Given the description of an element on the screen output the (x, y) to click on. 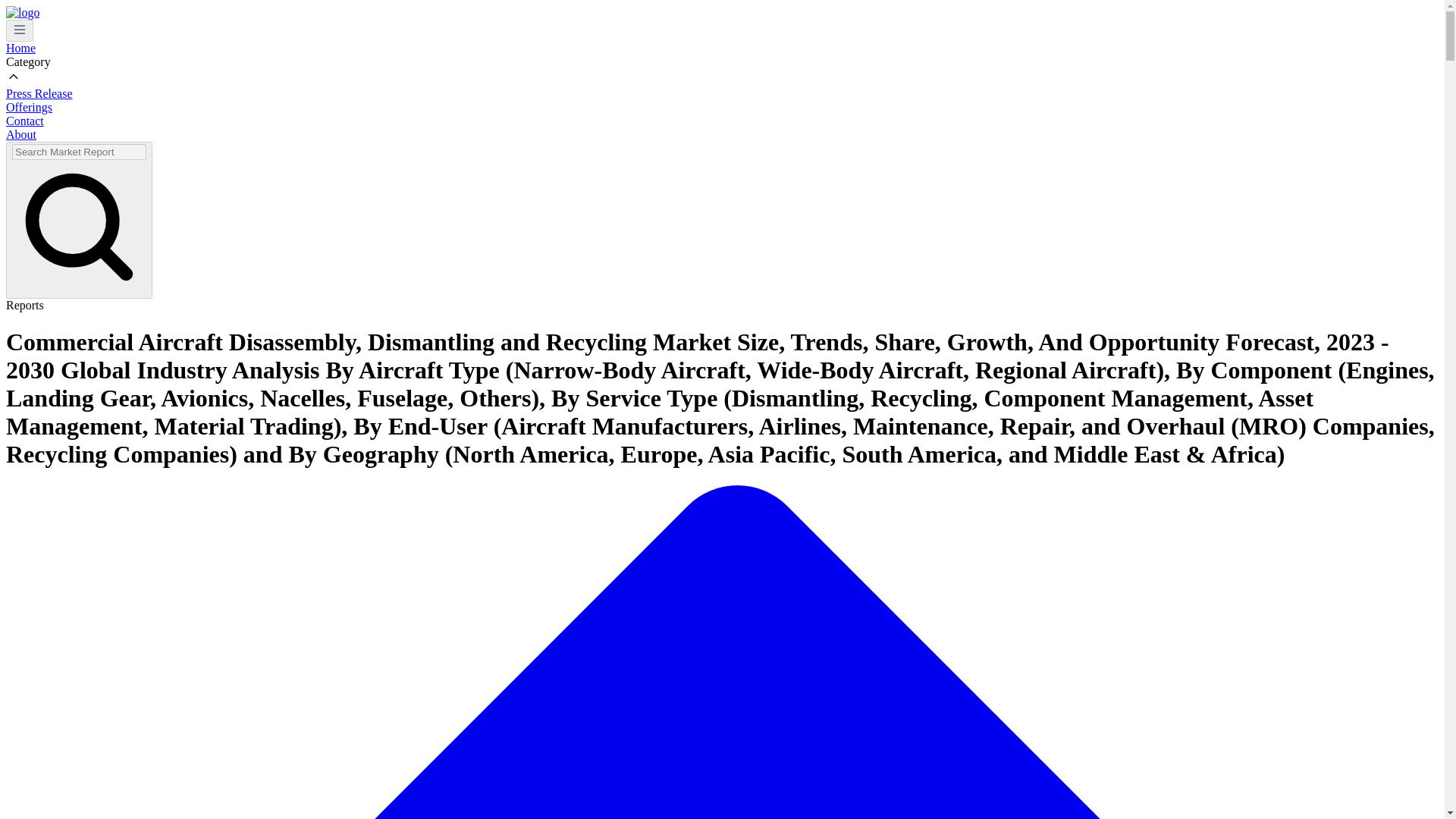
Press Release (38, 92)
Home (19, 47)
Contact (24, 120)
About (20, 133)
Offerings (28, 106)
